Given the description of an element on the screen output the (x, y) to click on. 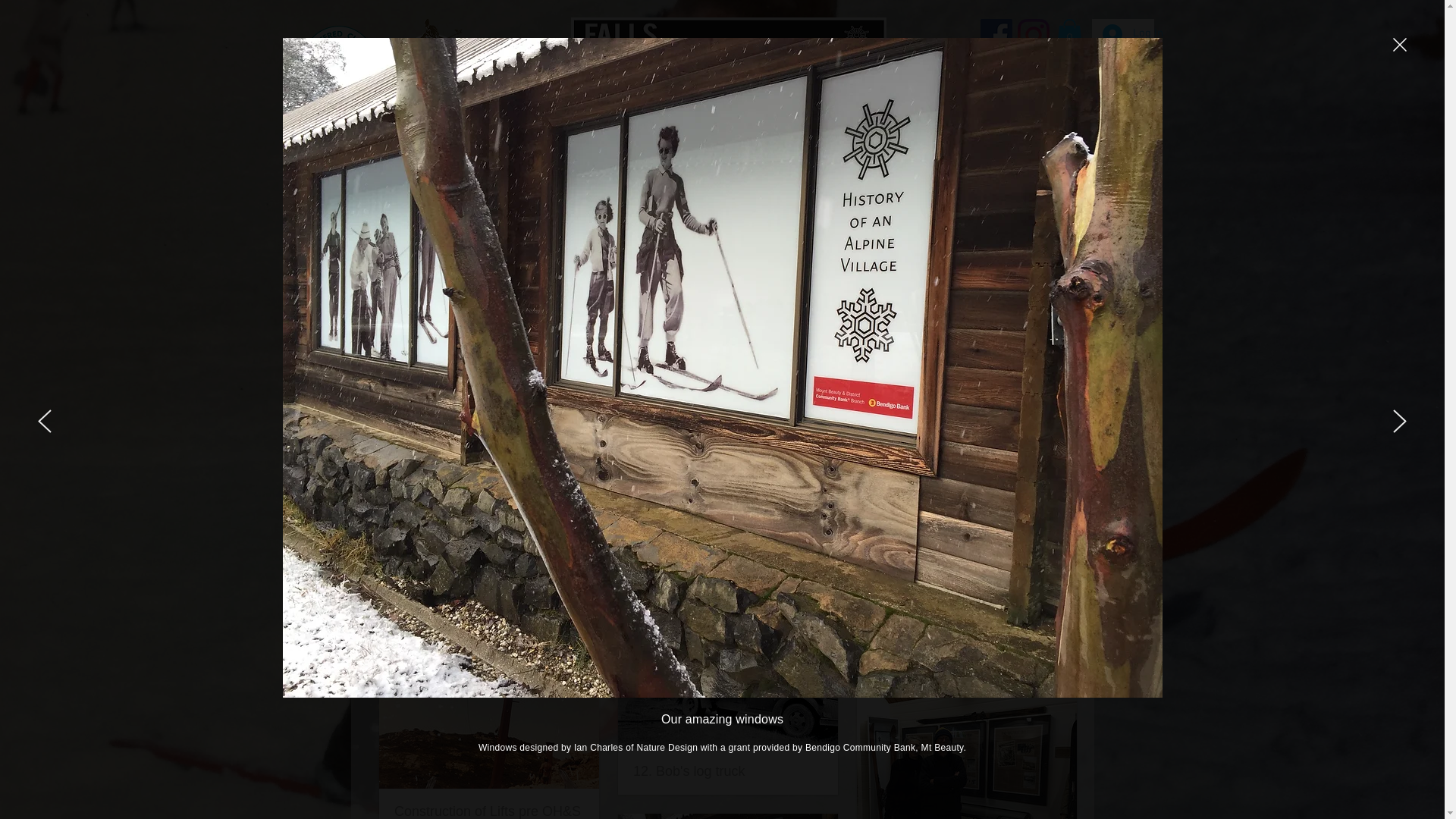
Log In Element type: text (1123, 33)
0 Element type: text (1068, 34)
HOME Element type: text (395, 149)
ABOUT Element type: text (489, 149)
MEMBERSHIP Element type: text (604, 149)
SERVICES Element type: text (818, 149)
LINKS Element type: text (921, 149)
SHOP Element type: text (716, 149)
SUPPORTERS Element type: text (1033, 149)
